Given the description of an element on the screen output the (x, y) to click on. 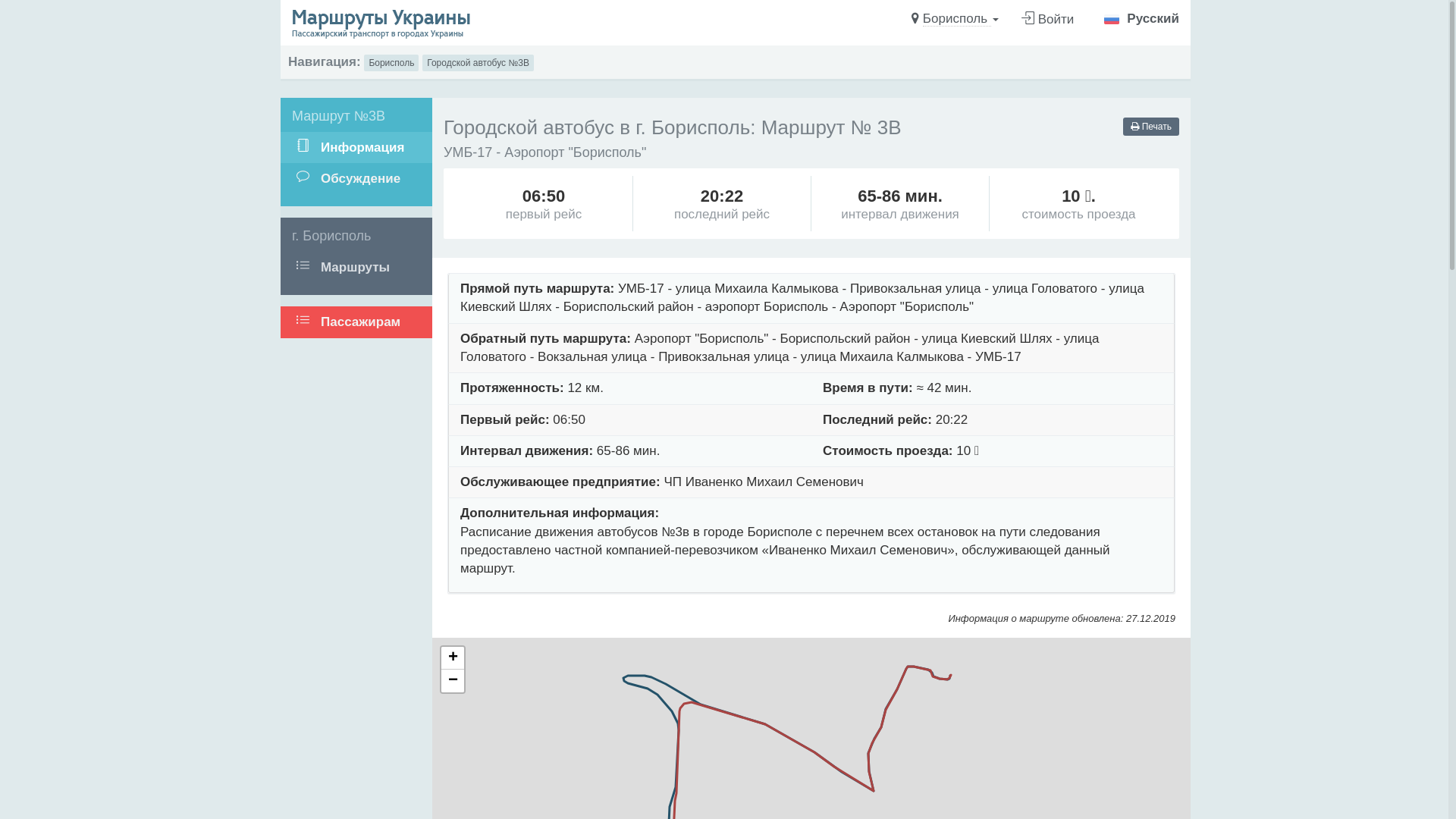
+ Element type: text (452, 657)
